Given the description of an element on the screen output the (x, y) to click on. 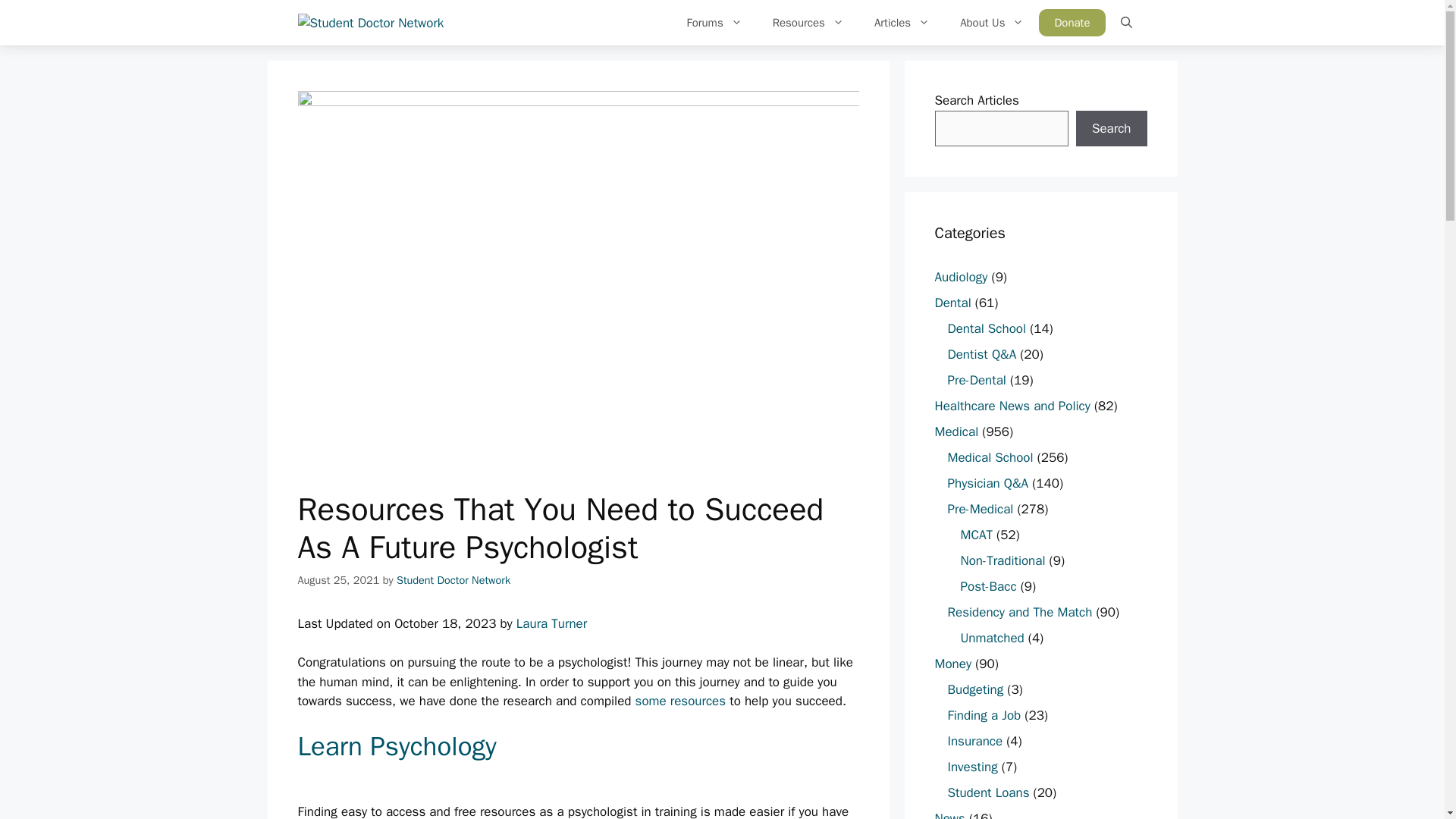
Forums (714, 22)
Resources (808, 22)
View all posts by Student Doctor Network (453, 580)
